Given the description of an element on the screen output the (x, y) to click on. 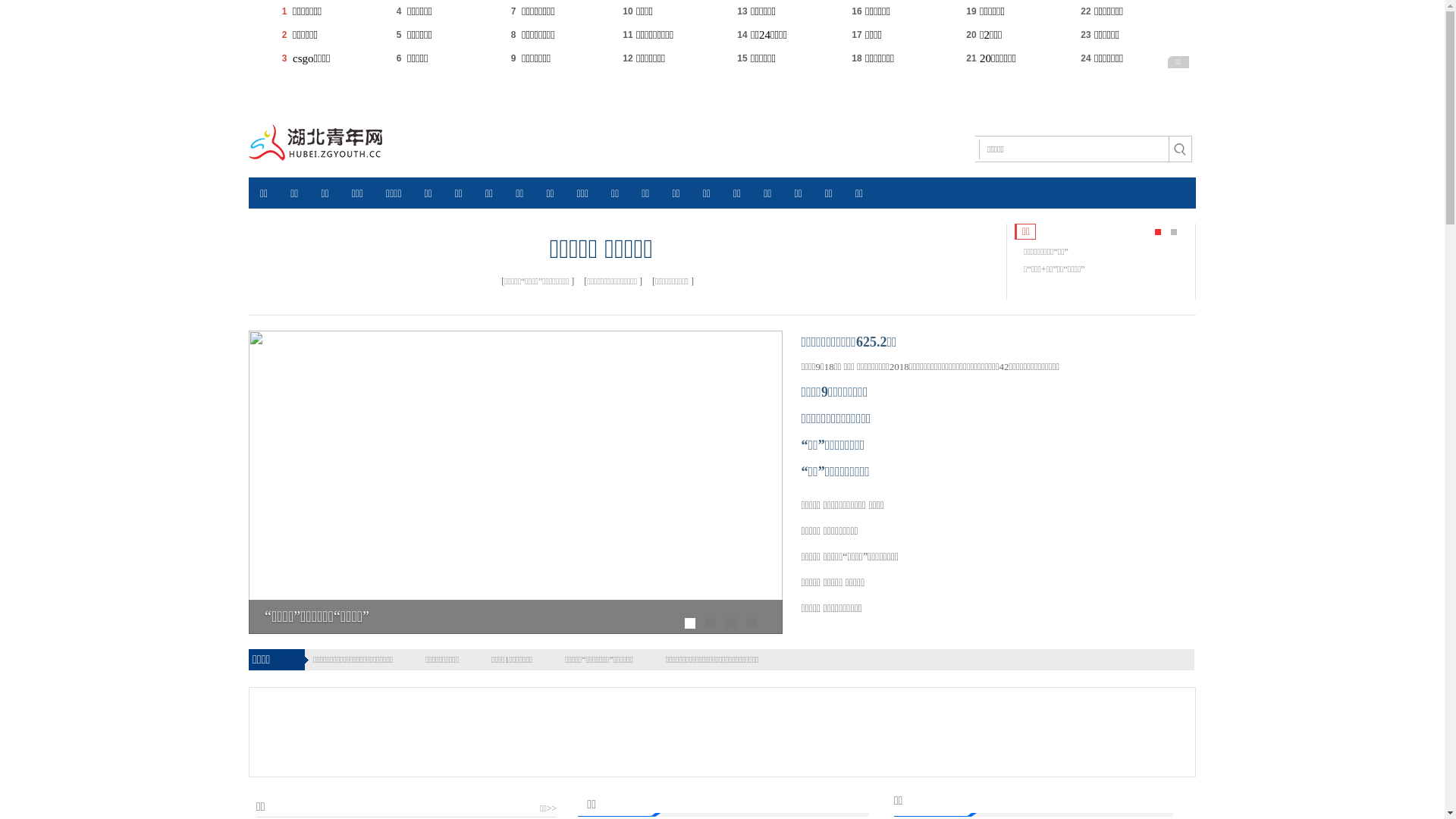
Advertisement Element type: hover (617, 729)
